Given the description of an element on the screen output the (x, y) to click on. 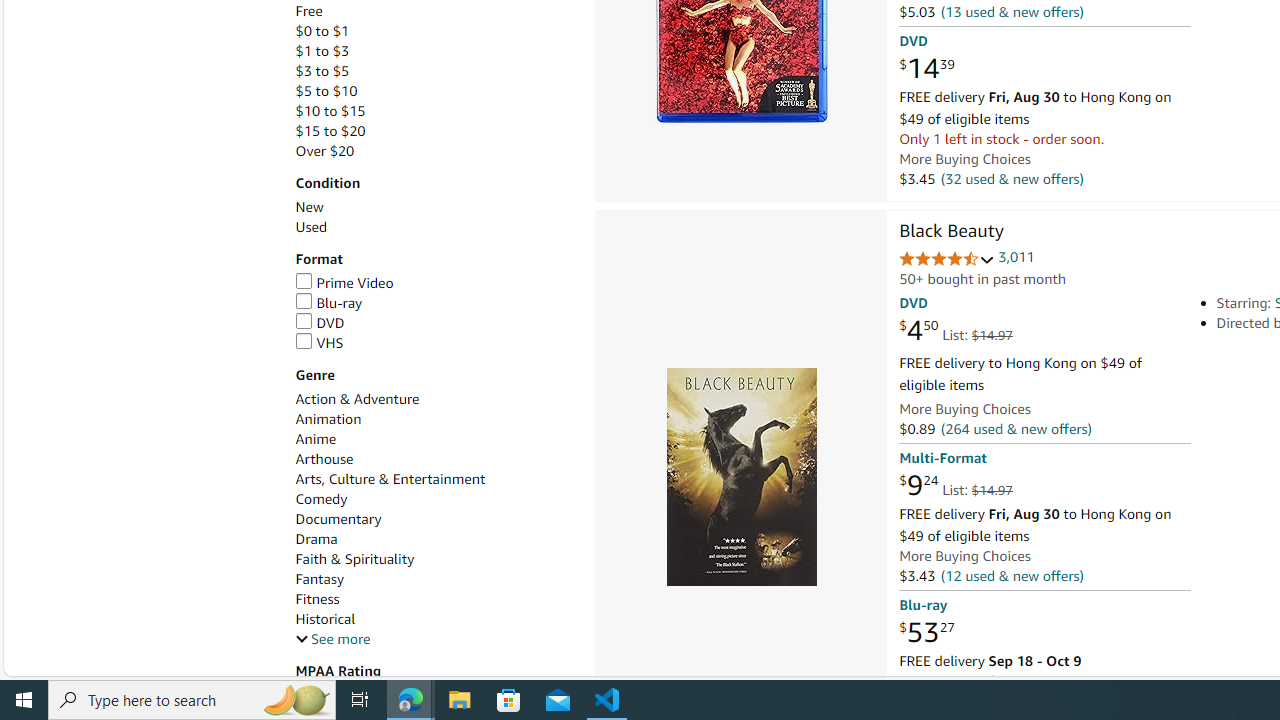
VHS (319, 342)
Blu-ray (328, 303)
$5 to $10 (326, 91)
4.7 out of 5 stars (946, 259)
Comedy (434, 499)
Arthouse (434, 459)
Blu-ray (434, 303)
(12 used & new offers) (1011, 574)
$14.39 (926, 69)
$1 to $3 (434, 51)
